Given the description of an element on the screen output the (x, y) to click on. 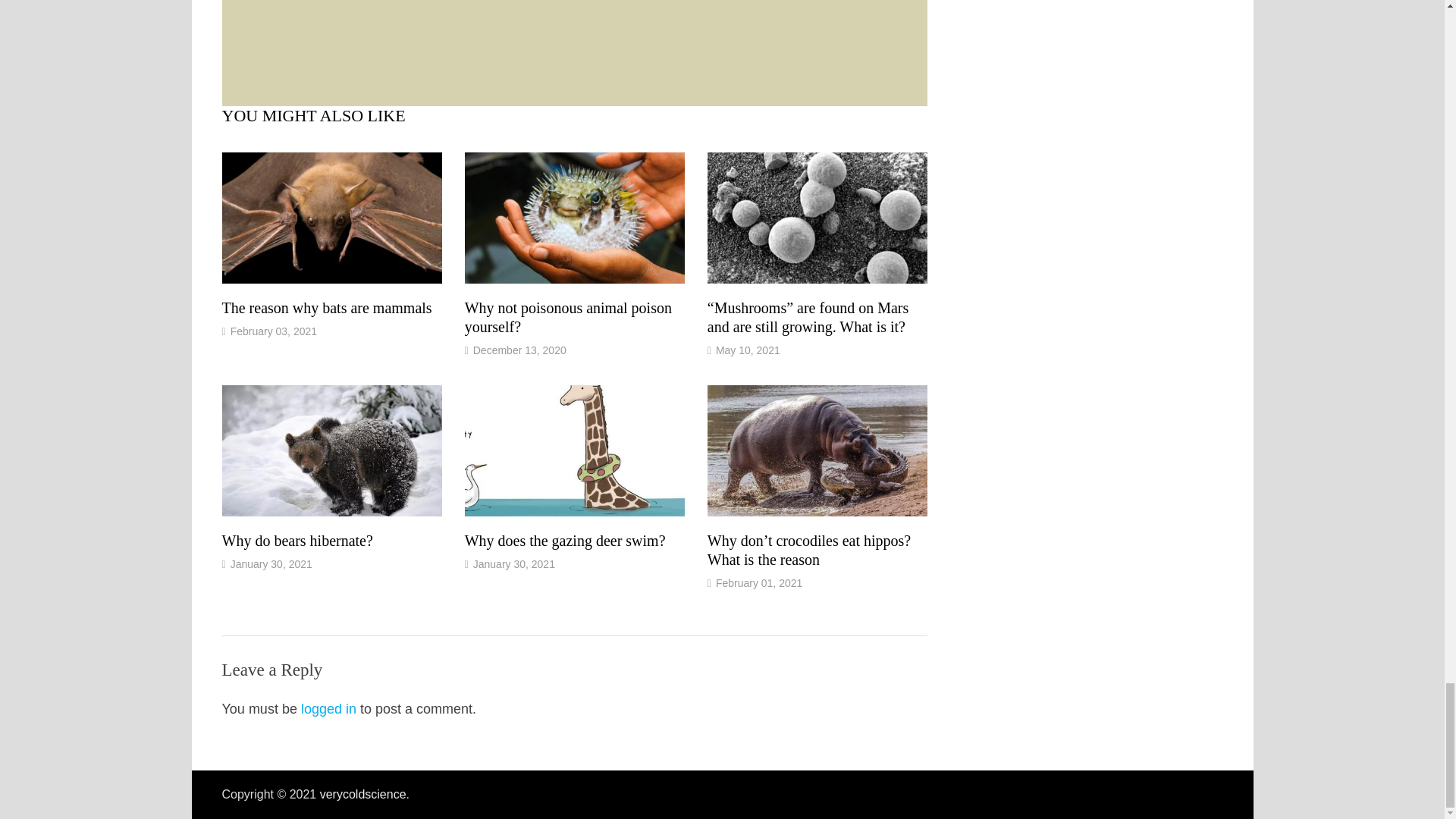
Why does the gazing deer swim? (564, 540)
Why does the gazing deer swim? (564, 540)
January 30, 2021 (513, 563)
December 13, 2020 (519, 349)
May 10, 2021 (748, 349)
Why do bears hibernate? (296, 540)
Why not poisonous animal poison yourself? (567, 316)
February 01, 2021 (759, 582)
Why not poisonous animal poison yourself? (567, 316)
The reason why bats are mammals (325, 307)
February 03, 2021 (273, 331)
The reason why bats are mammals (325, 307)
logged in (328, 708)
Why do bears hibernate? (296, 540)
January 30, 2021 (271, 563)
